Given the description of an element on the screen output the (x, y) to click on. 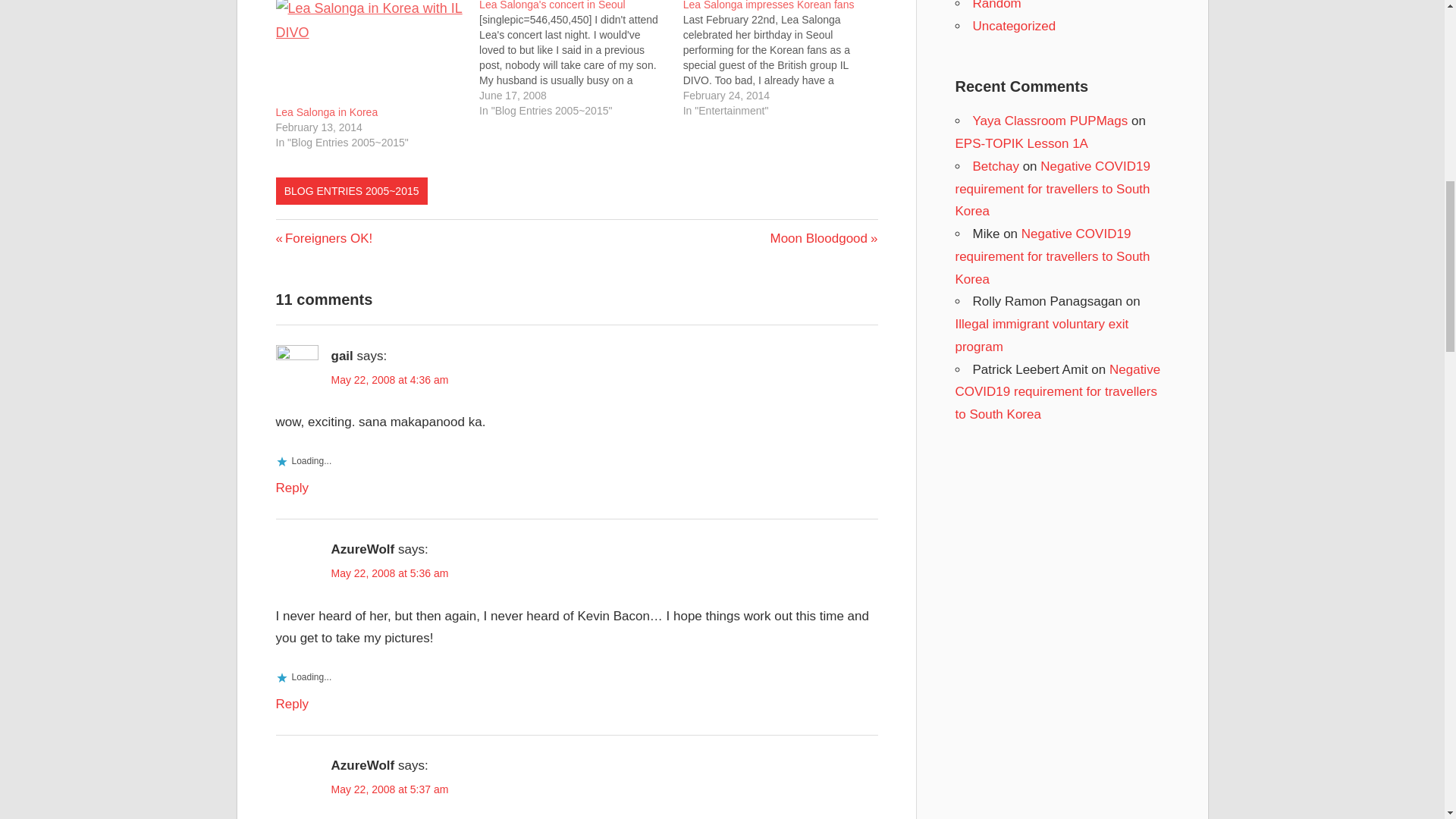
Lea Salonga impresses Korean fans (768, 5)
Lea Salonga's concert in Seoul (324, 237)
Lea Salonga impresses Korean fans (552, 5)
Lea Salonga impresses Korean fans (823, 237)
Lea Salonga in Korea (784, 58)
Lea Salonga in Korea (768, 5)
Lea Salonga in Korea (327, 111)
May 22, 2008 at 4:36 am (327, 111)
